Given the description of an element on the screen output the (x, y) to click on. 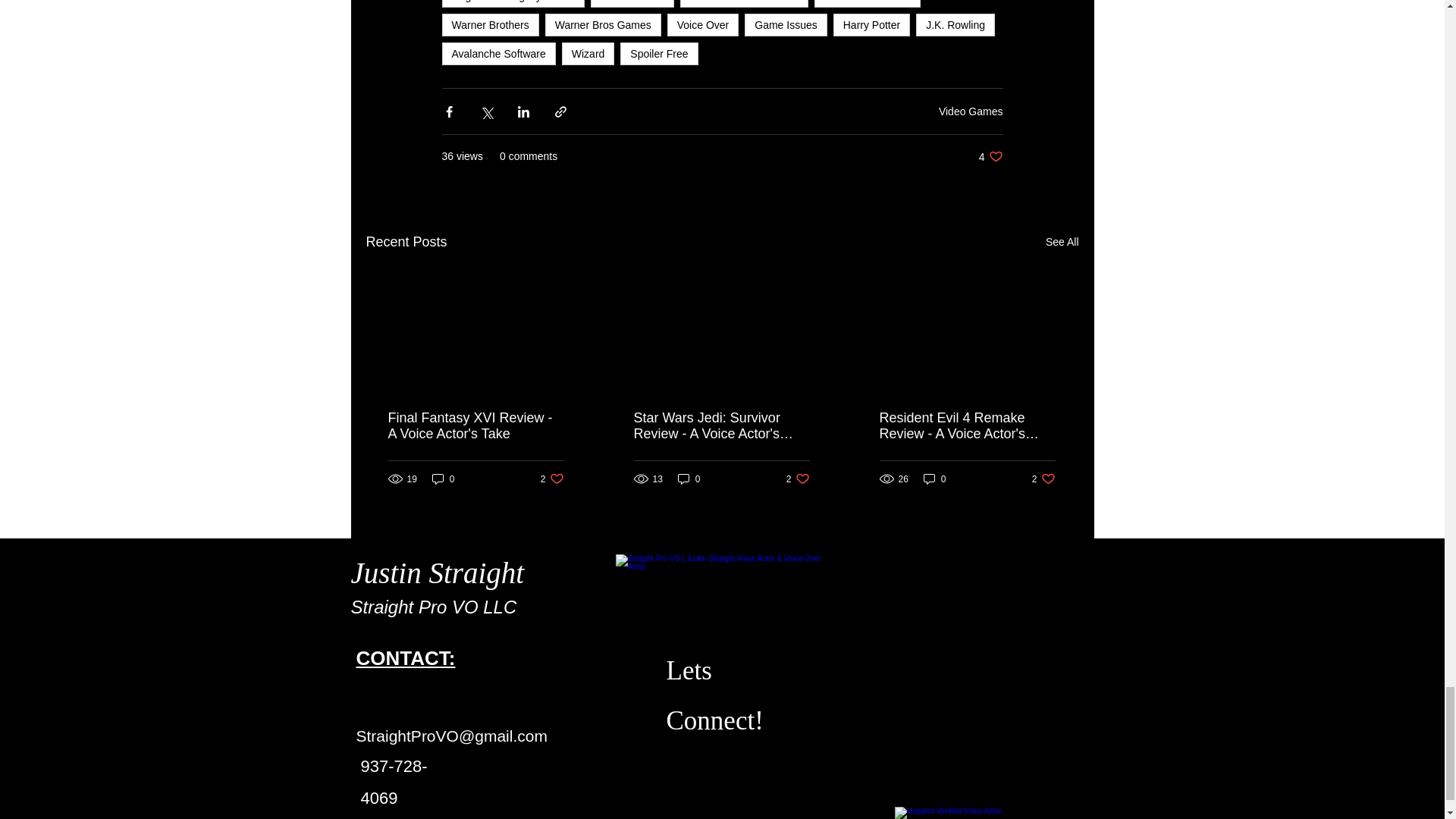
Harry Potter (871, 24)
Hogwwarts Legacy review (513, 3)
Avalanche Games (866, 3)
Warner Bros Games (602, 24)
Voice Over (702, 24)
Game Issues (785, 24)
Warner Brothers (489, 24)
Wizard World Universe (743, 3)
Wizard World (632, 3)
